Given the description of an element on the screen output the (x, y) to click on. 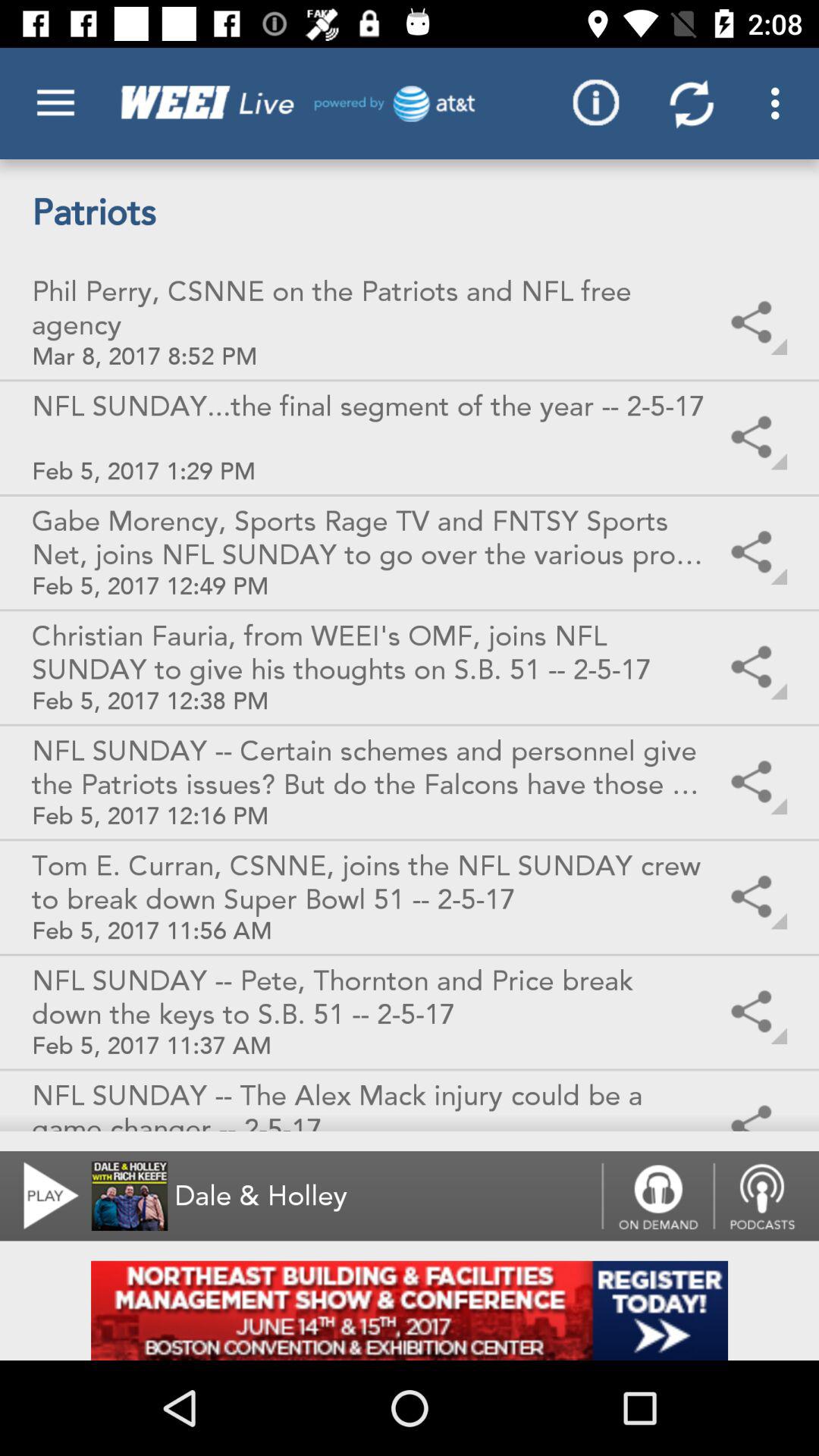
banner add (409, 1310)
